Given the description of an element on the screen output the (x, y) to click on. 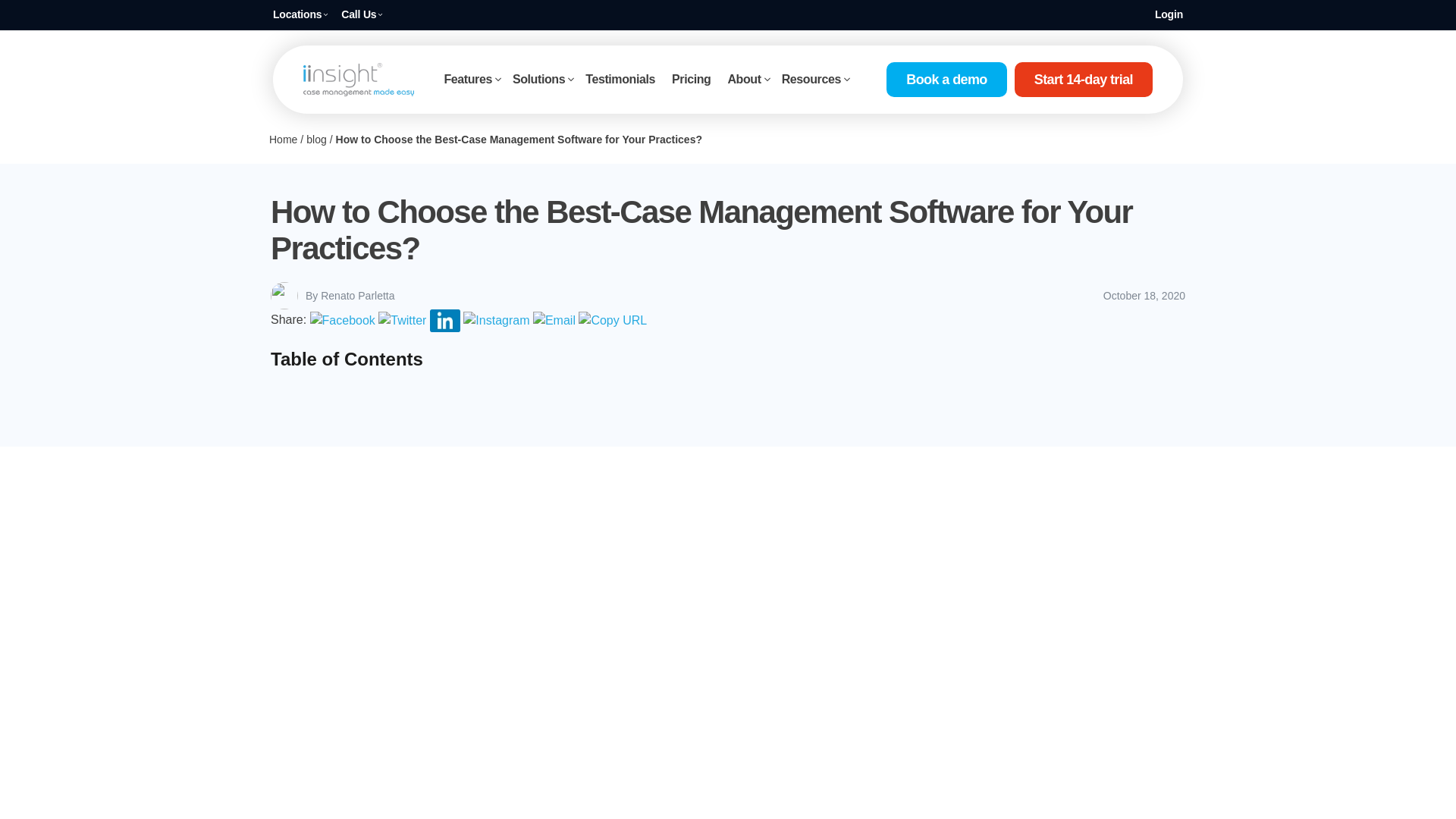
Login (1168, 14)
Home (283, 139)
